Given the description of an element on the screen output the (x, y) to click on. 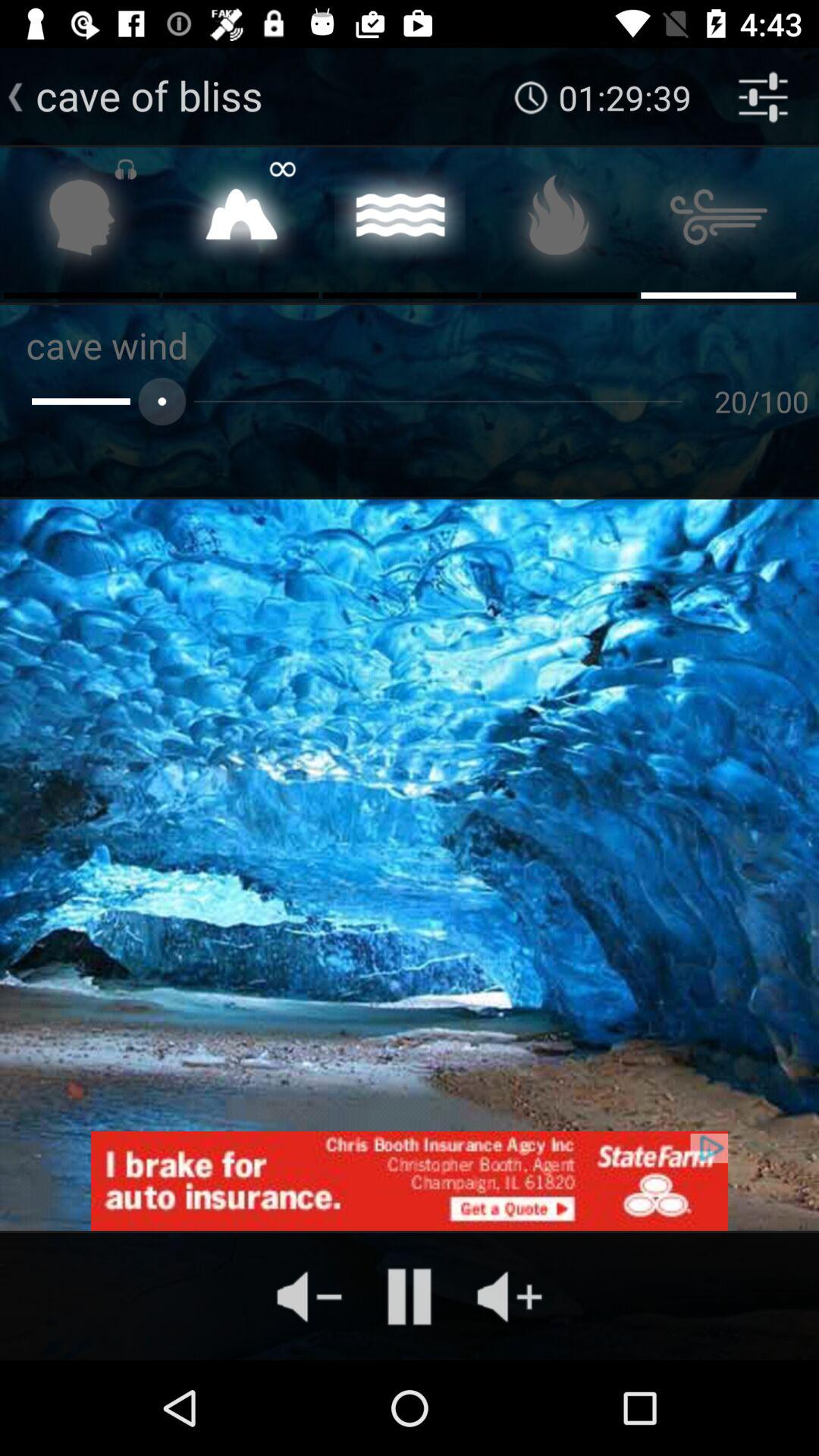
game option (81, 221)
